Given the description of an element on the screen output the (x, y) to click on. 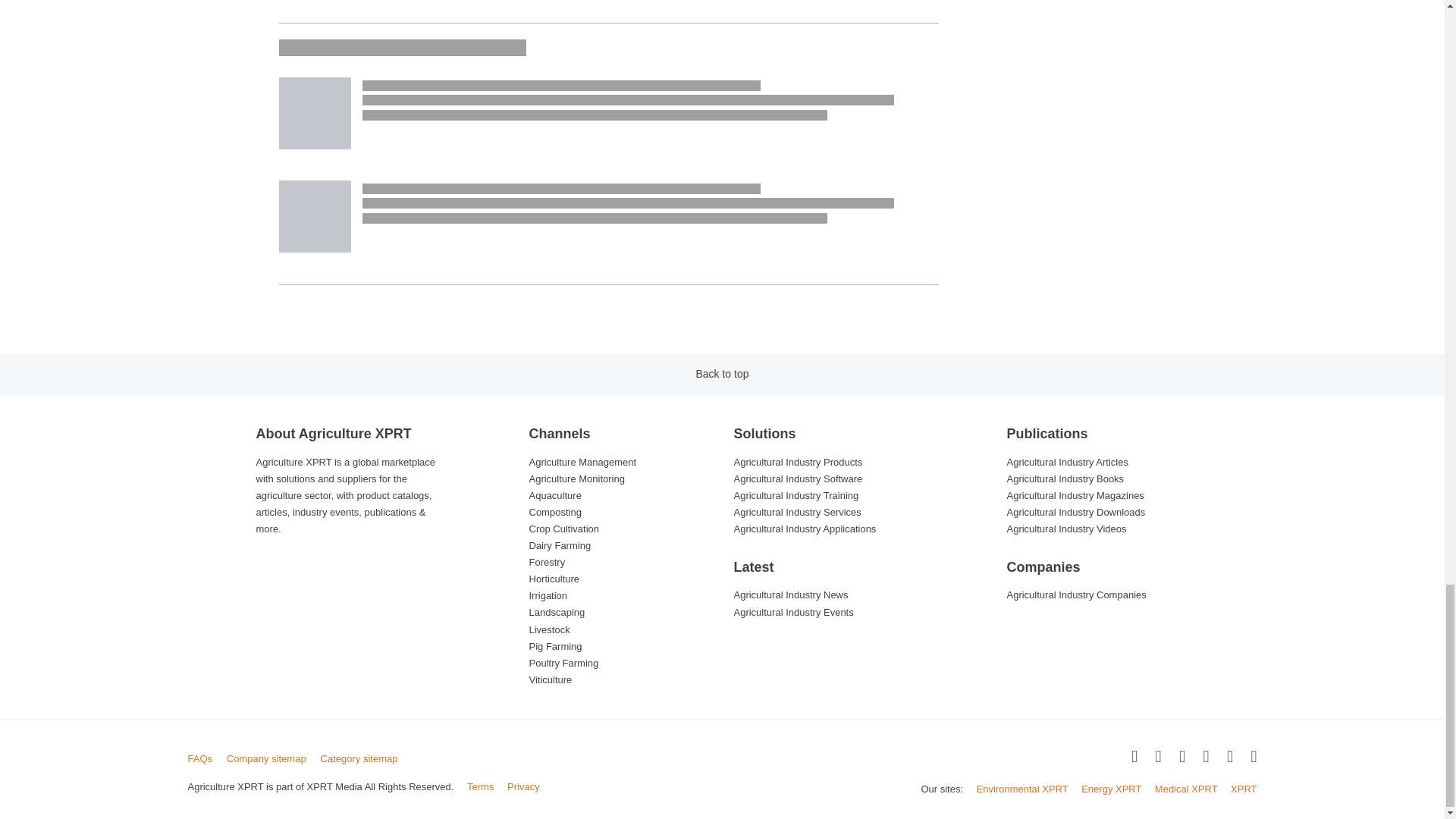
Placeholder (314, 216)
Placeholder (314, 112)
